Given the description of an element on the screen output the (x, y) to click on. 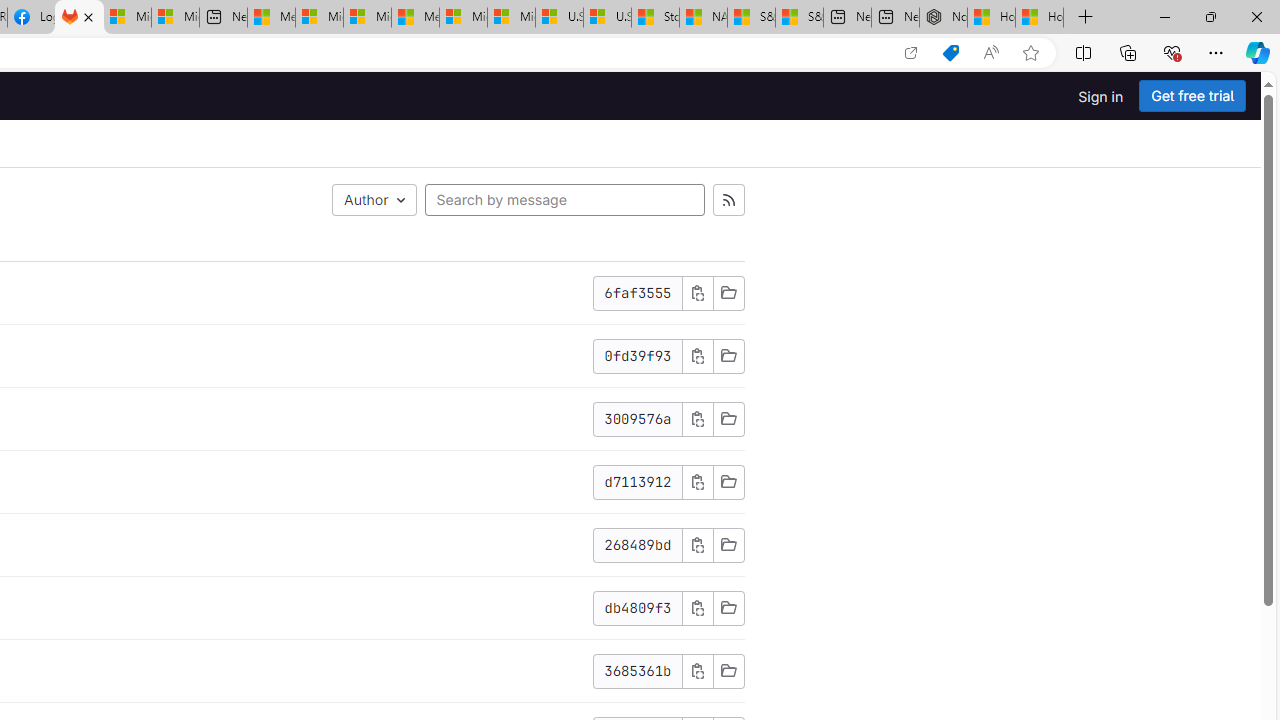
Class: s16 (728, 670)
Copy commit SHA (697, 671)
Author (374, 200)
Commits feed (727, 200)
